Given the description of an element on the screen output the (x, y) to click on. 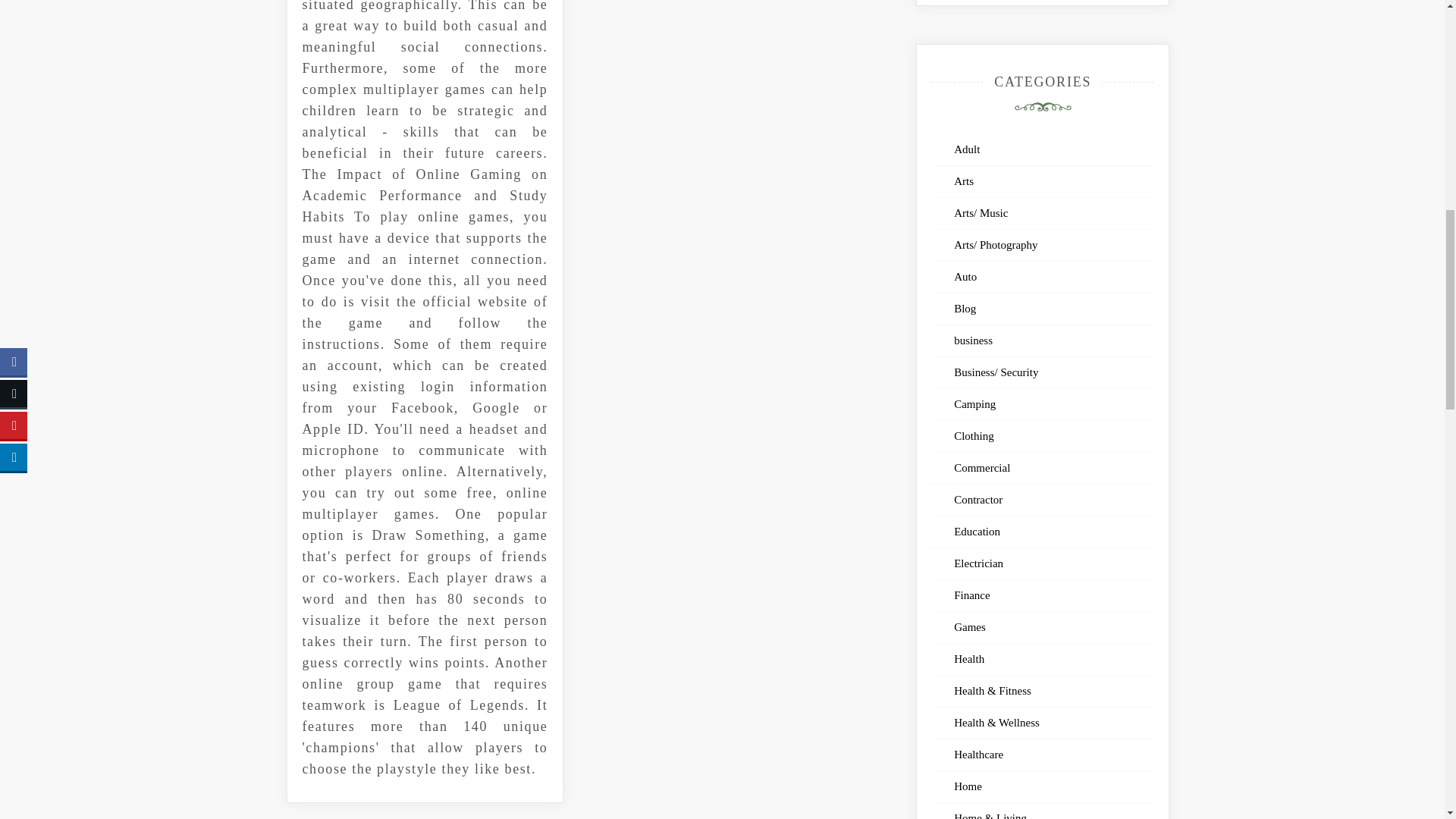
Education (983, 531)
Clothing (980, 435)
Blog (971, 308)
Arts (970, 181)
Camping (981, 404)
business (979, 340)
Adult (972, 149)
Commercial (988, 467)
Auto (971, 276)
Contractor (984, 499)
